Given the description of an element on the screen output the (x, y) to click on. 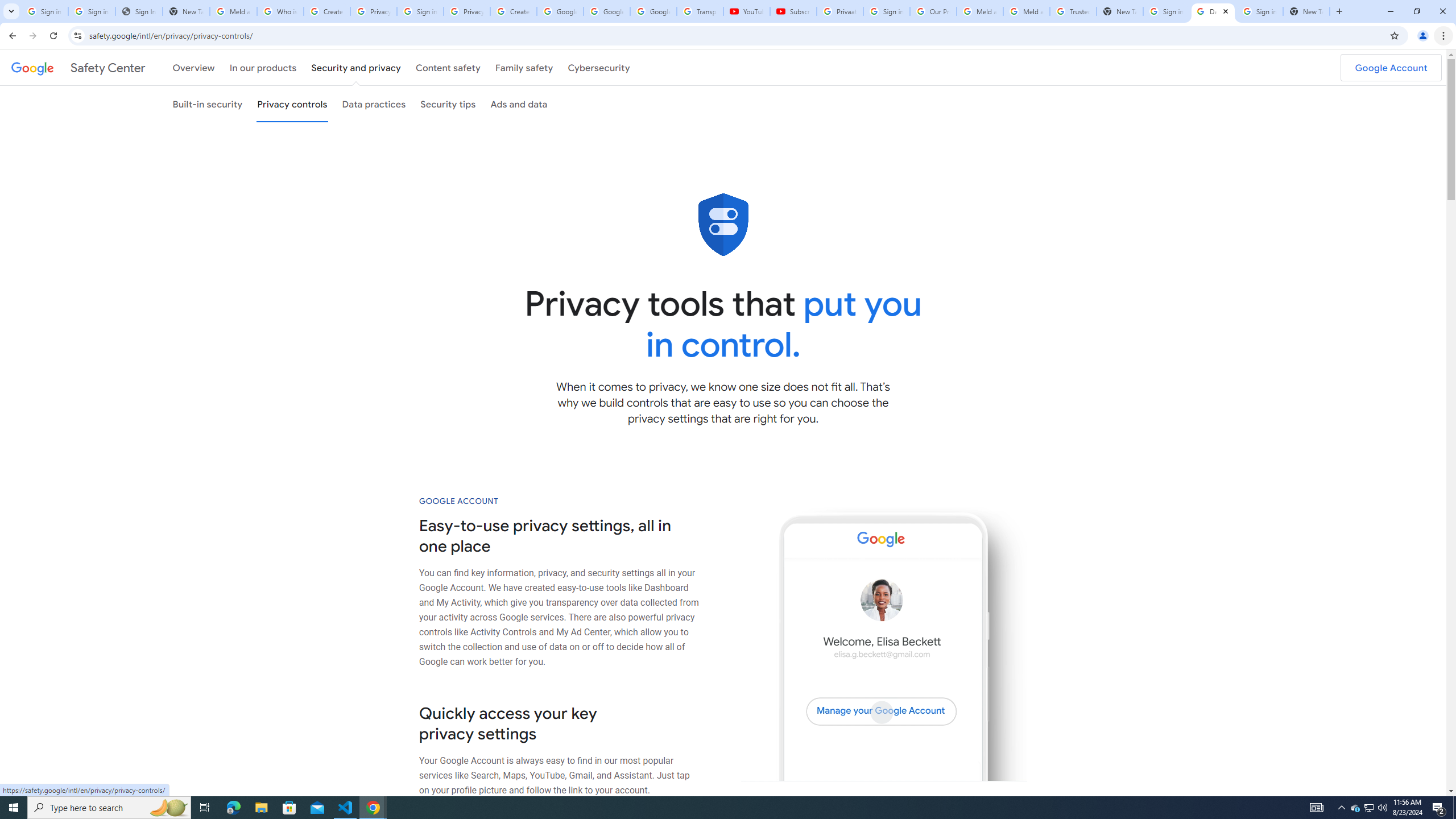
Google Account (652, 11)
Who is my administrator? - Google Account Help (279, 11)
New Tab (1120, 11)
Sign In - USA TODAY (138, 11)
